Given the description of an element on the screen output the (x, y) to click on. 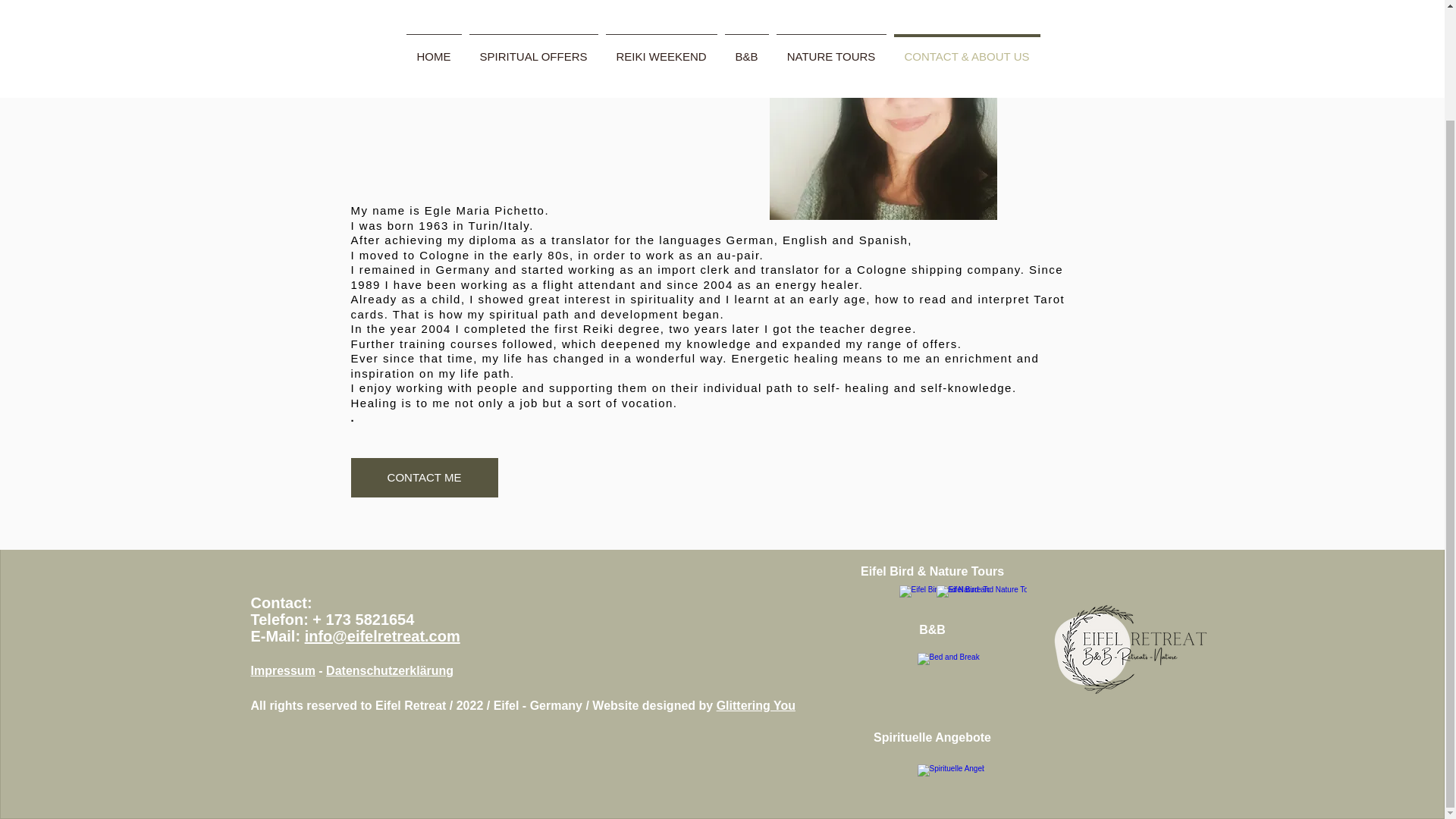
11.png (1129, 649)
CONTACT ME (423, 477)
Glittering You (755, 705)
Impressum (282, 670)
